Given the description of an element on the screen output the (x, y) to click on. 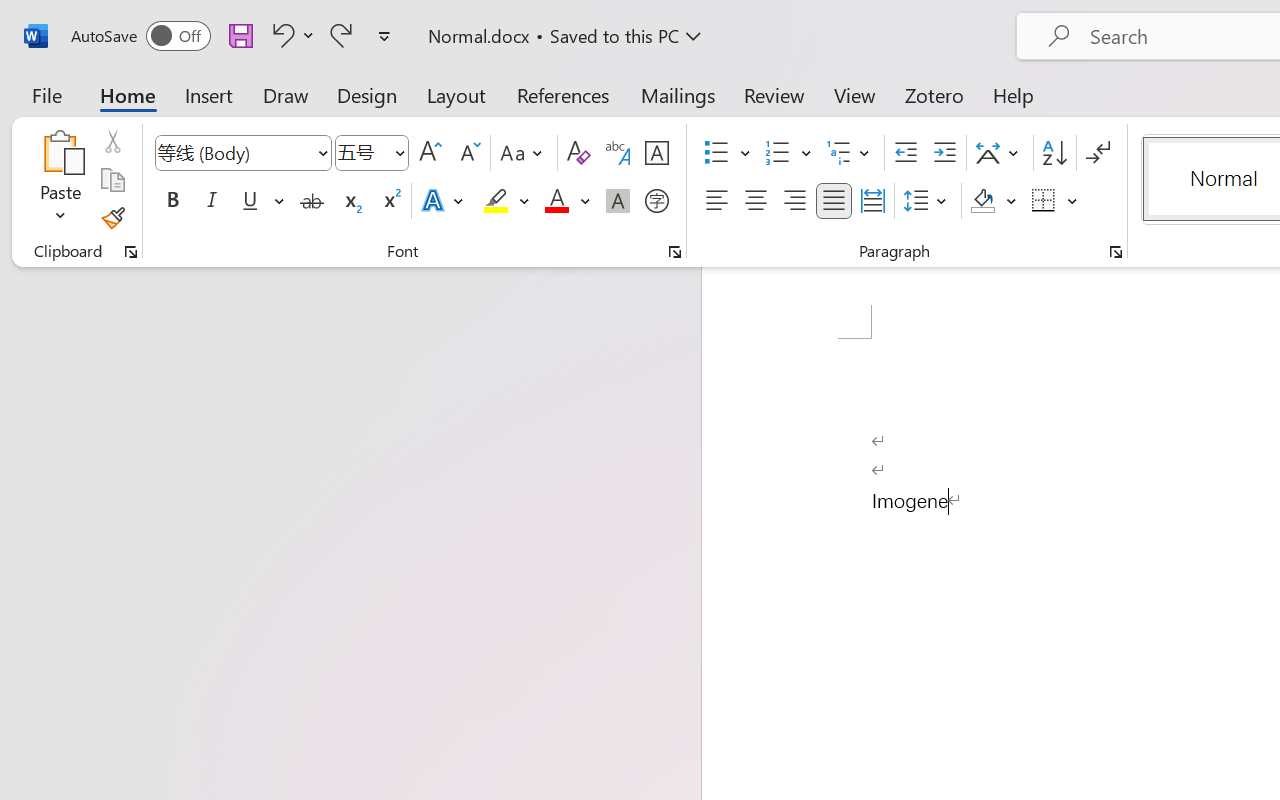
Line and Paragraph Spacing (927, 201)
Font... (675, 252)
Redo Style (341, 35)
Shading (993, 201)
Format Painter (112, 218)
Superscript (390, 201)
Cut (112, 141)
Phonetic Guide... (618, 153)
Clear Formatting (578, 153)
